Given the description of an element on the screen output the (x, y) to click on. 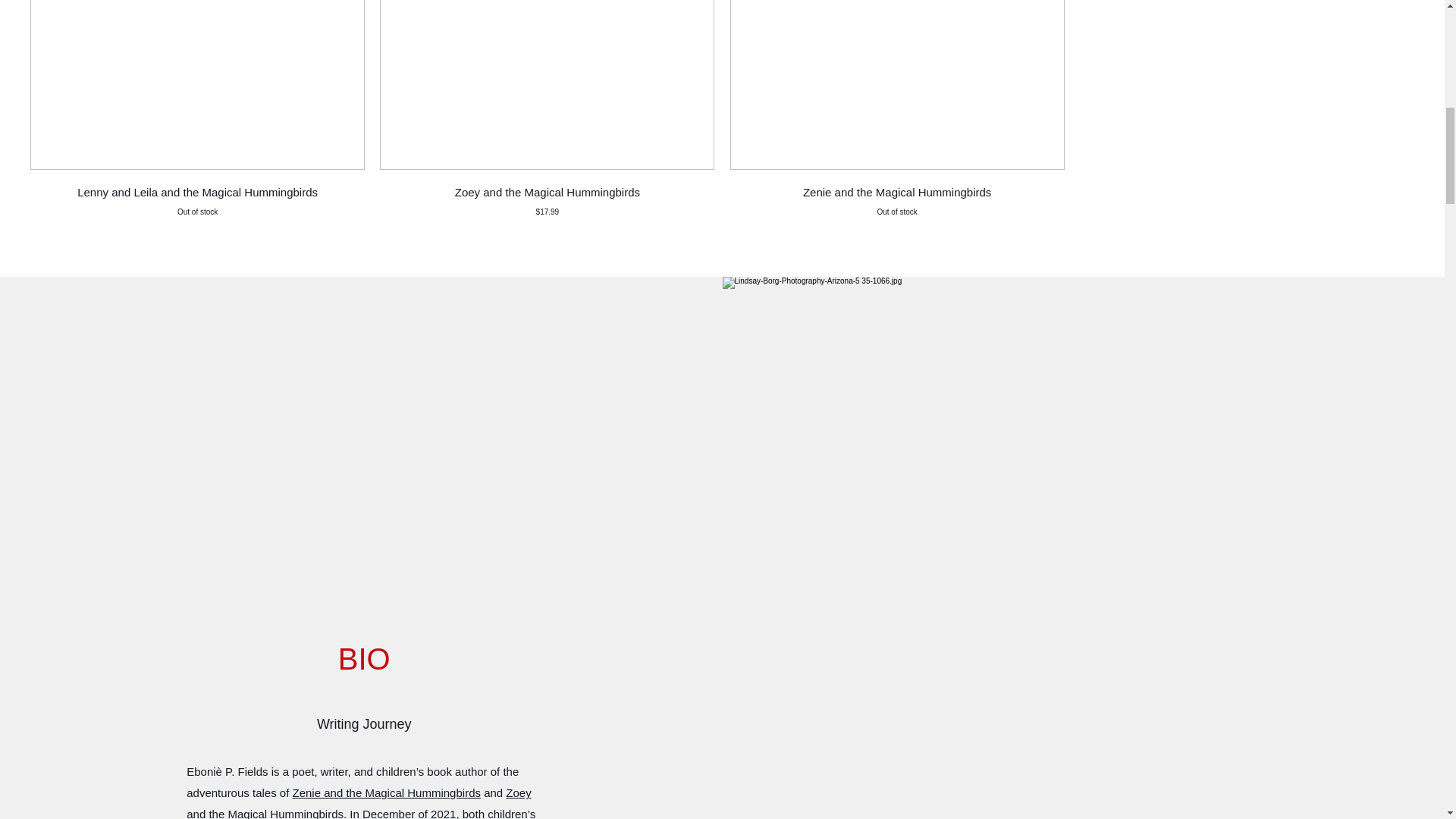
Best Seller (896, 84)
New Arrival (896, 199)
